Given the description of an element on the screen output the (x, y) to click on. 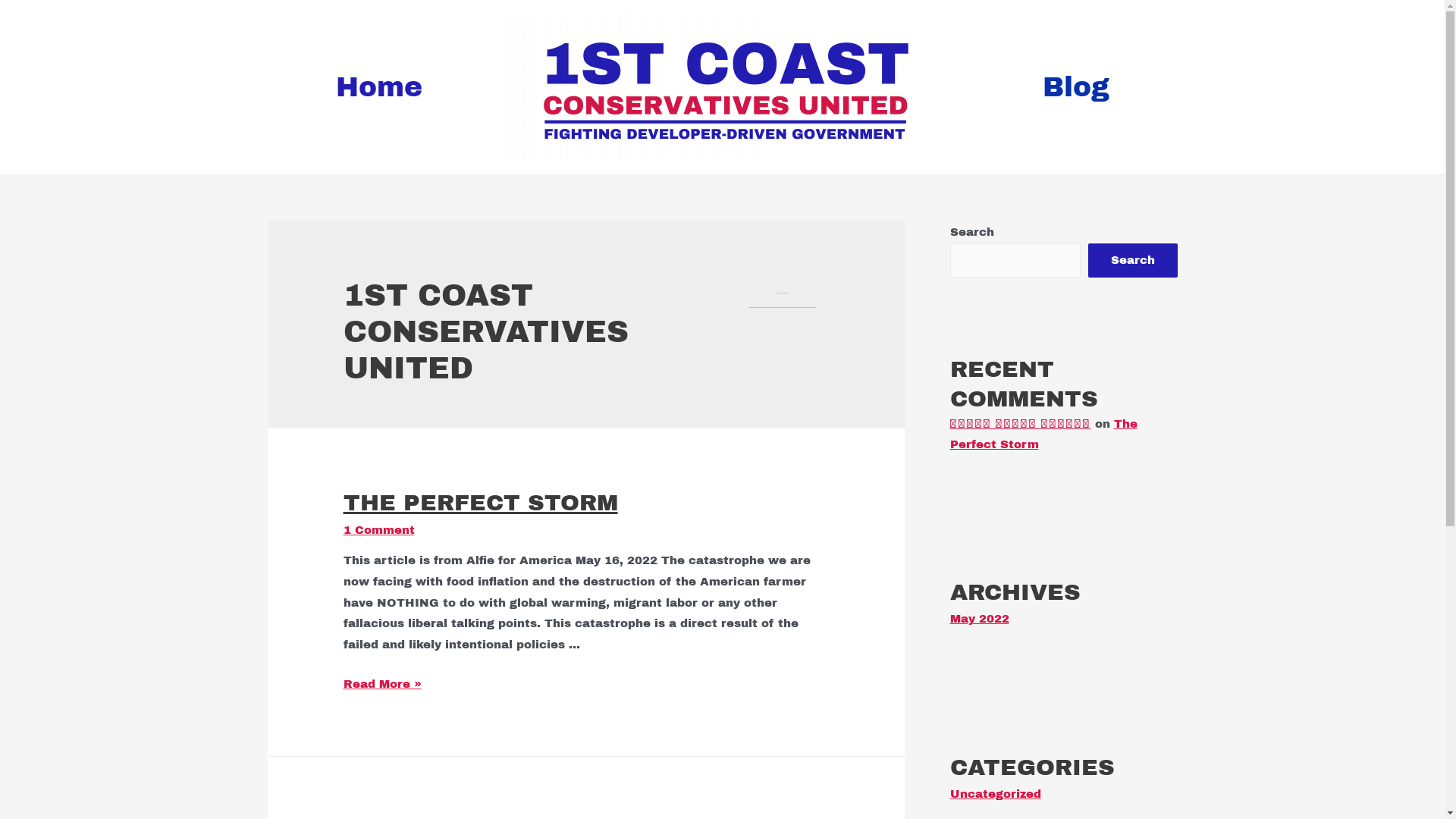
Blog Element type: text (1095, 86)
The Perfect Storm Element type: text (1042, 433)
Search Element type: text (1131, 260)
THE PERFECT STORM Element type: text (480, 502)
1 Comment Element type: text (378, 530)
Uncategorized Element type: text (994, 793)
Home Element type: text (343, 86)
May 2022 Element type: text (978, 618)
